Given the description of an element on the screen output the (x, y) to click on. 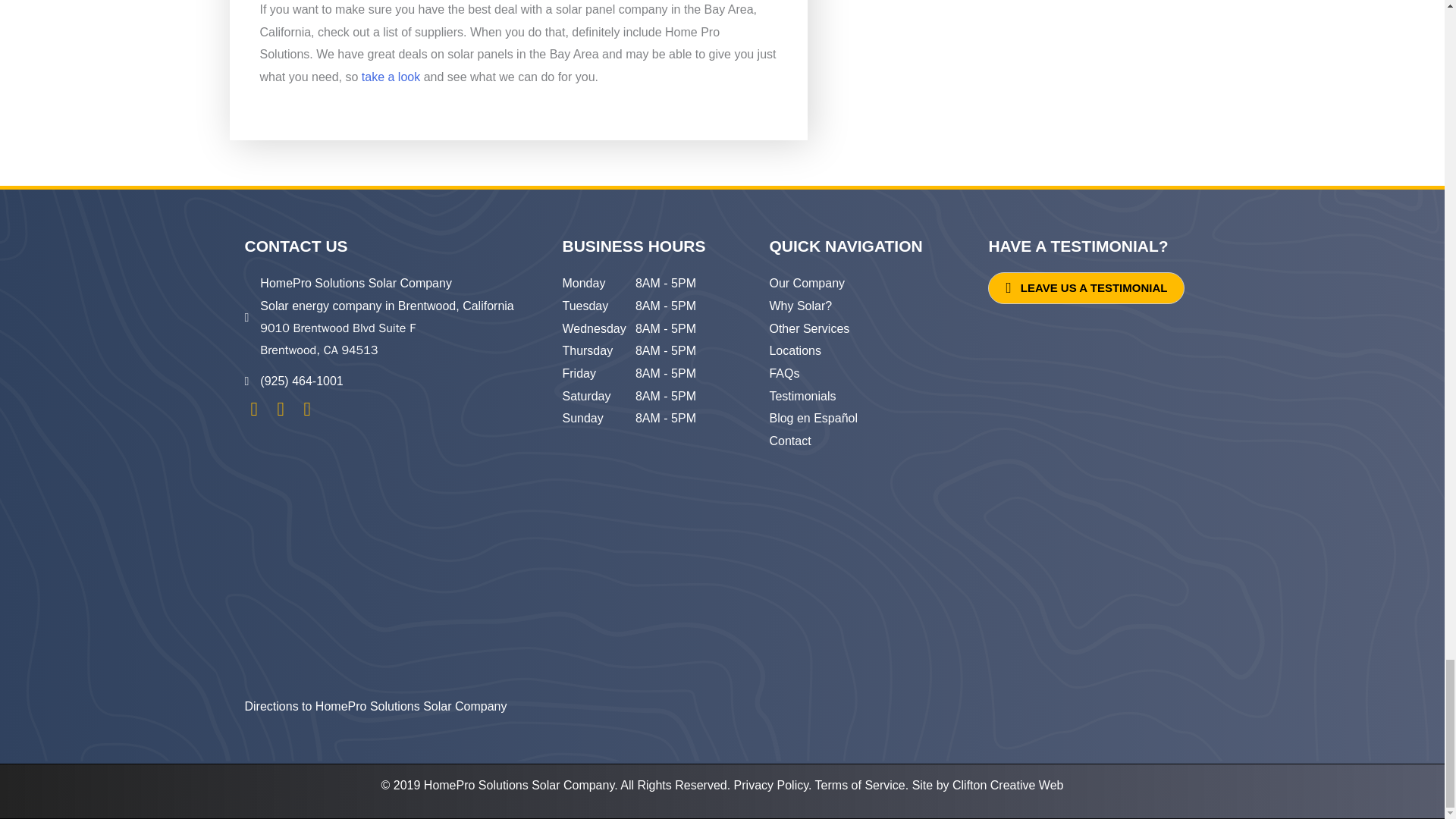
take a look (390, 76)
Our Company (806, 282)
Directions to HomePro Solutions Solar Company (375, 706)
